Given the description of an element on the screen output the (x, y) to click on. 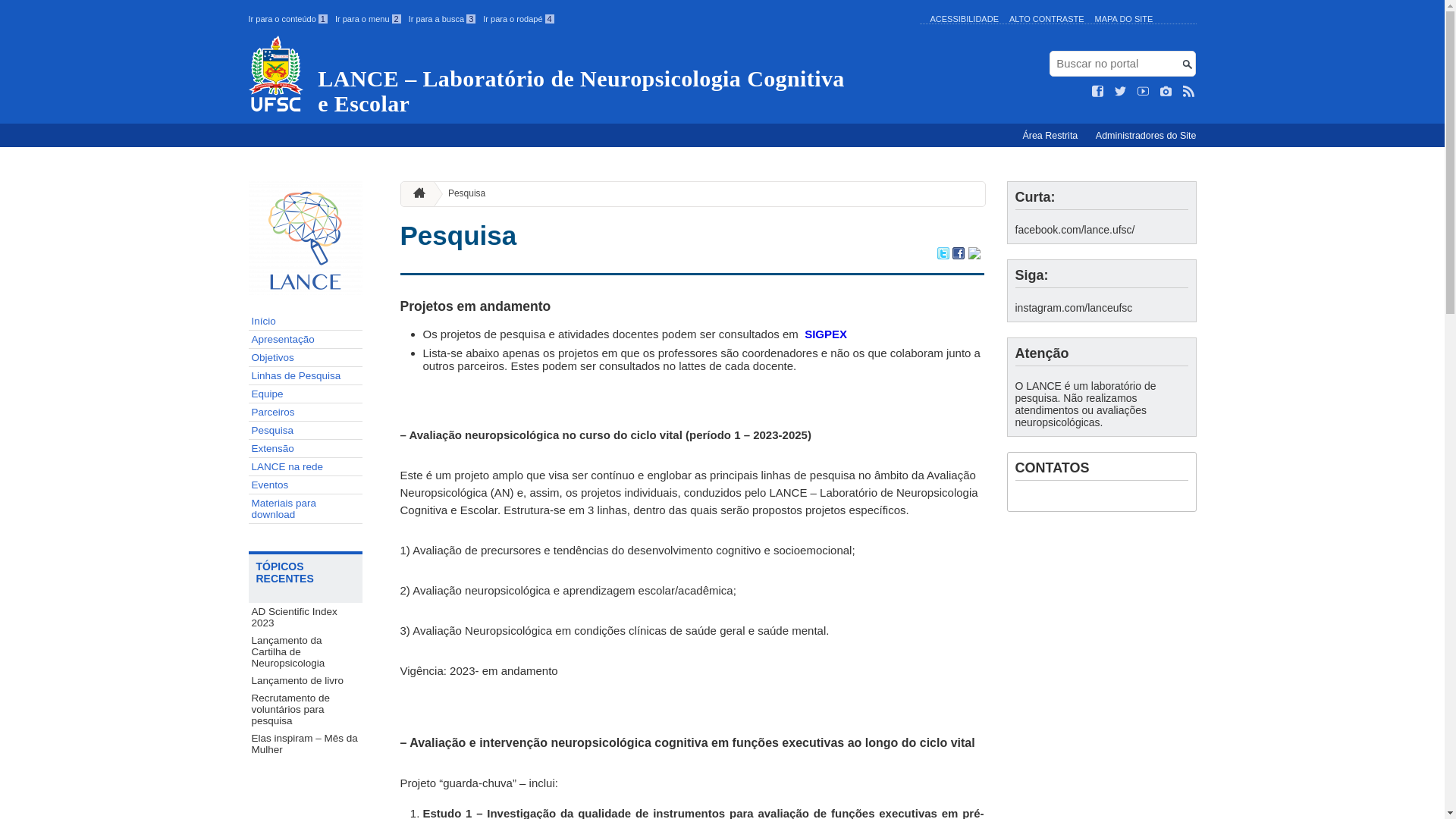
Compartilhar no WhatsApp Element type: hover (973, 254)
Objetivos Element type: text (305, 357)
ALTO CONTRASTE Element type: text (1046, 18)
Ir para a busca 3 Element type: text (442, 18)
Administradores do Site Element type: text (1146, 135)
Pesquisa Element type: text (458, 235)
Veja no Instagram Element type: hover (1166, 91)
Compartilhar no Facebook Element type: hover (958, 254)
Equipe Element type: text (305, 394)
Pesquisa Element type: text (305, 430)
MAPA DO SITE Element type: text (1124, 18)
Pesquisa Element type: text (460, 193)
Materiais para download Element type: text (305, 509)
Parceiros Element type: text (305, 412)
Eventos Element type: text (305, 485)
LANCE na rede Element type: text (305, 467)
Compartilhar no Twitter Element type: hover (943, 254)
ACESSIBILIDADE Element type: text (963, 18)
Curta no Facebook Element type: hover (1098, 91)
SIGPEX Element type: text (825, 333)
Ir para o menu 2 Element type: text (368, 18)
Siga no Twitter Element type: hover (1120, 91)
AD Scientific Index 2023 Element type: text (305, 616)
Linhas de Pesquisa Element type: text (305, 376)
